Given the description of an element on the screen output the (x, y) to click on. 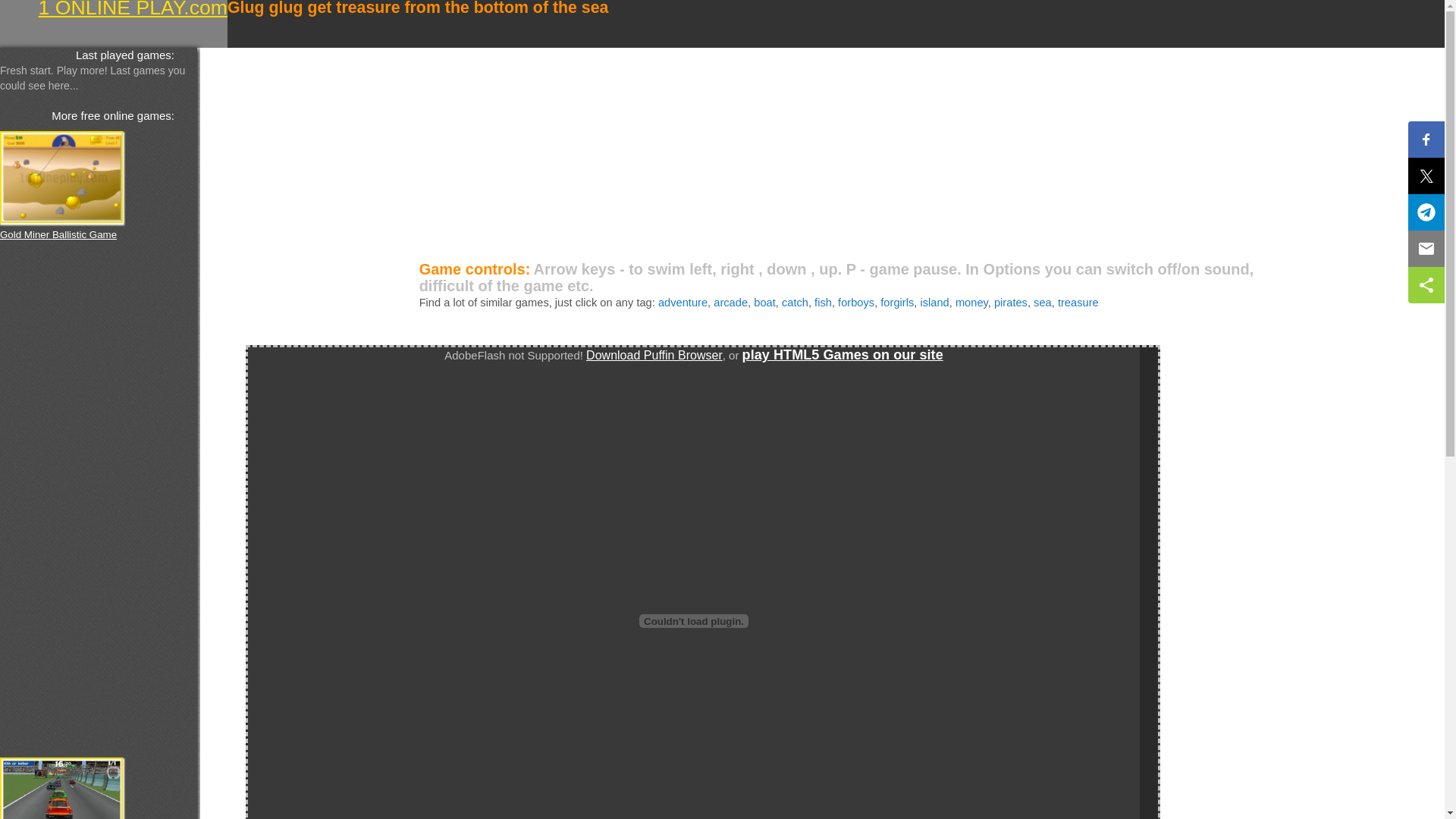
adventure Element type: text (682, 302)
play HTML5 Games on our site Element type: text (842, 354)
boat Element type: text (764, 302)
money Element type: text (971, 302)
Play The Game: Gold Miner Ballistic Game Element type: hover (61, 176)
treasure Element type: text (1077, 302)
fish Element type: text (822, 302)
island Element type: text (933, 302)
Gold Miner Ballistic Game Element type: text (58, 234)
Advertisement Element type: hover (655, 153)
forboys Element type: text (855, 302)
Advertisement Element type: hover (60, 497)
forgirls Element type: text (896, 302)
arcade Element type: text (730, 302)
Download Puffin Browser Element type: text (654, 354)
catch Element type: text (794, 302)
pirates Element type: text (1010, 302)
sea Element type: text (1042, 302)
